Given the description of an element on the screen output the (x, y) to click on. 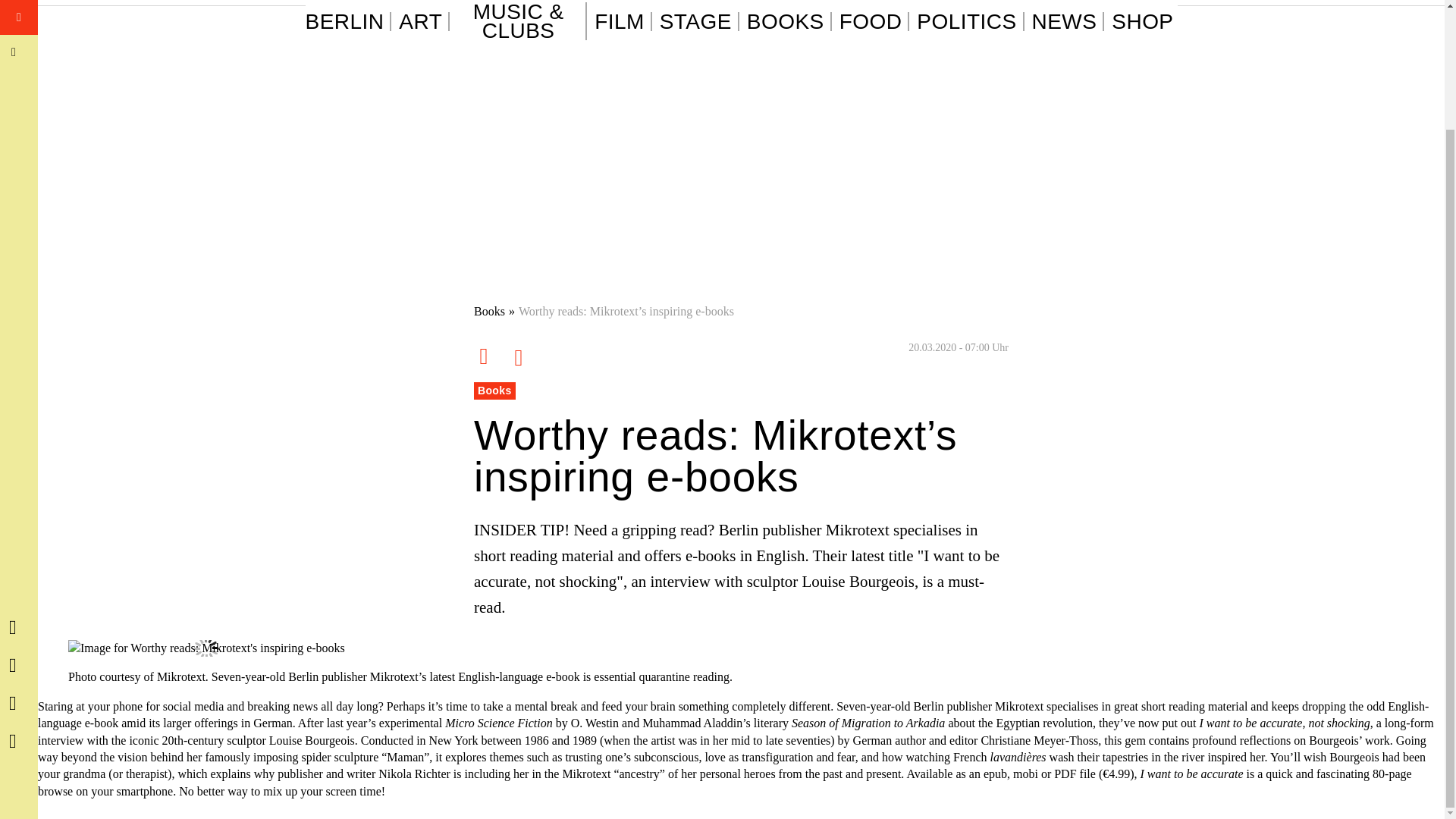
Books (489, 310)
News (1068, 21)
BERLIN (347, 21)
Stage (699, 21)
Food (875, 21)
POLITICS (970, 21)
Berlin (347, 21)
Art (423, 21)
FOOD (875, 21)
STAGE (699, 21)
